Given the description of an element on the screen output the (x, y) to click on. 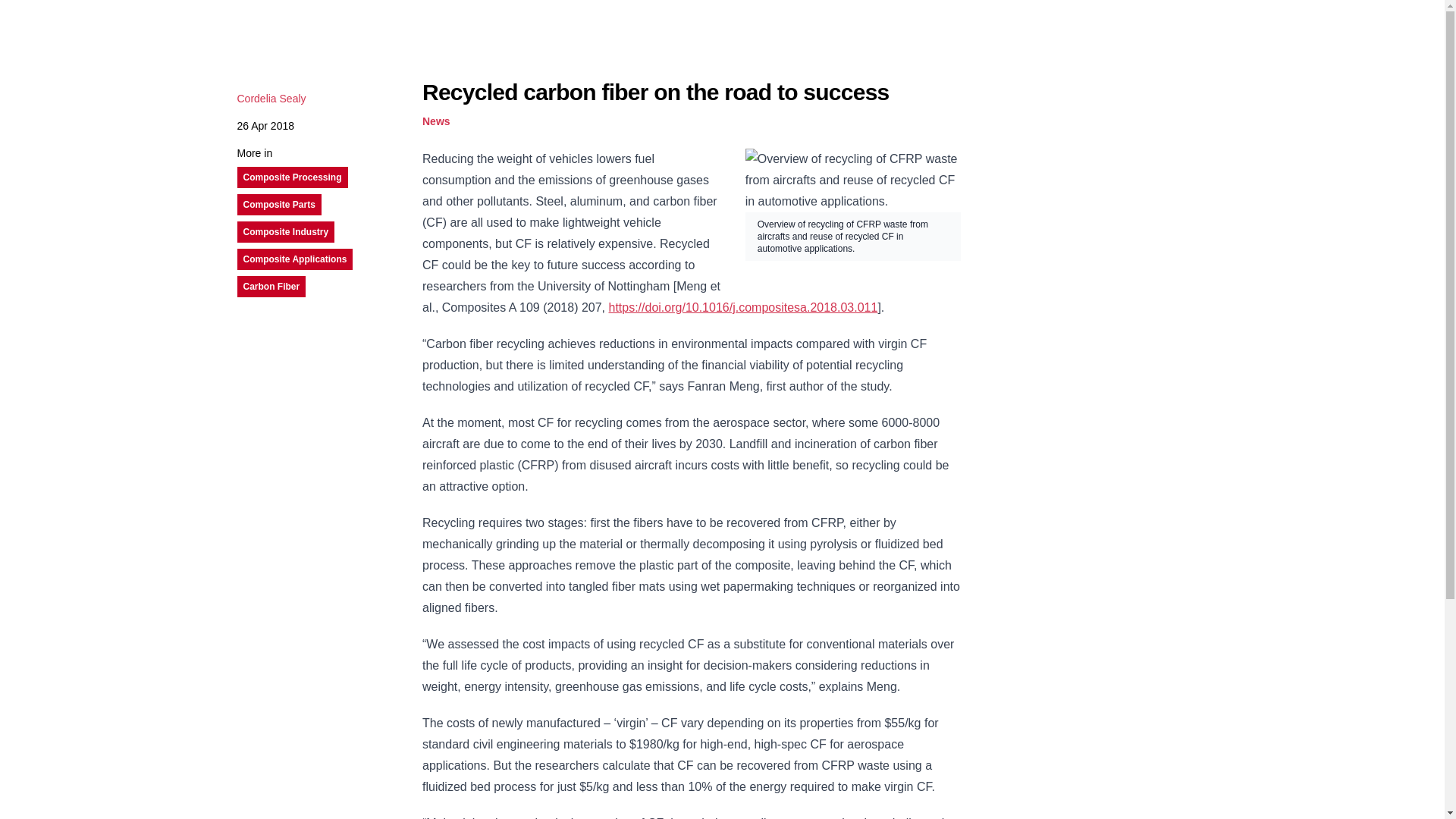
Composite Applications (294, 258)
News (435, 121)
Composite Processing (291, 176)
Carbon Fiber (271, 286)
Composite Industry (286, 231)
Composite Parts (278, 204)
Cordelia Sealy (270, 98)
